Given the description of an element on the screen output the (x, y) to click on. 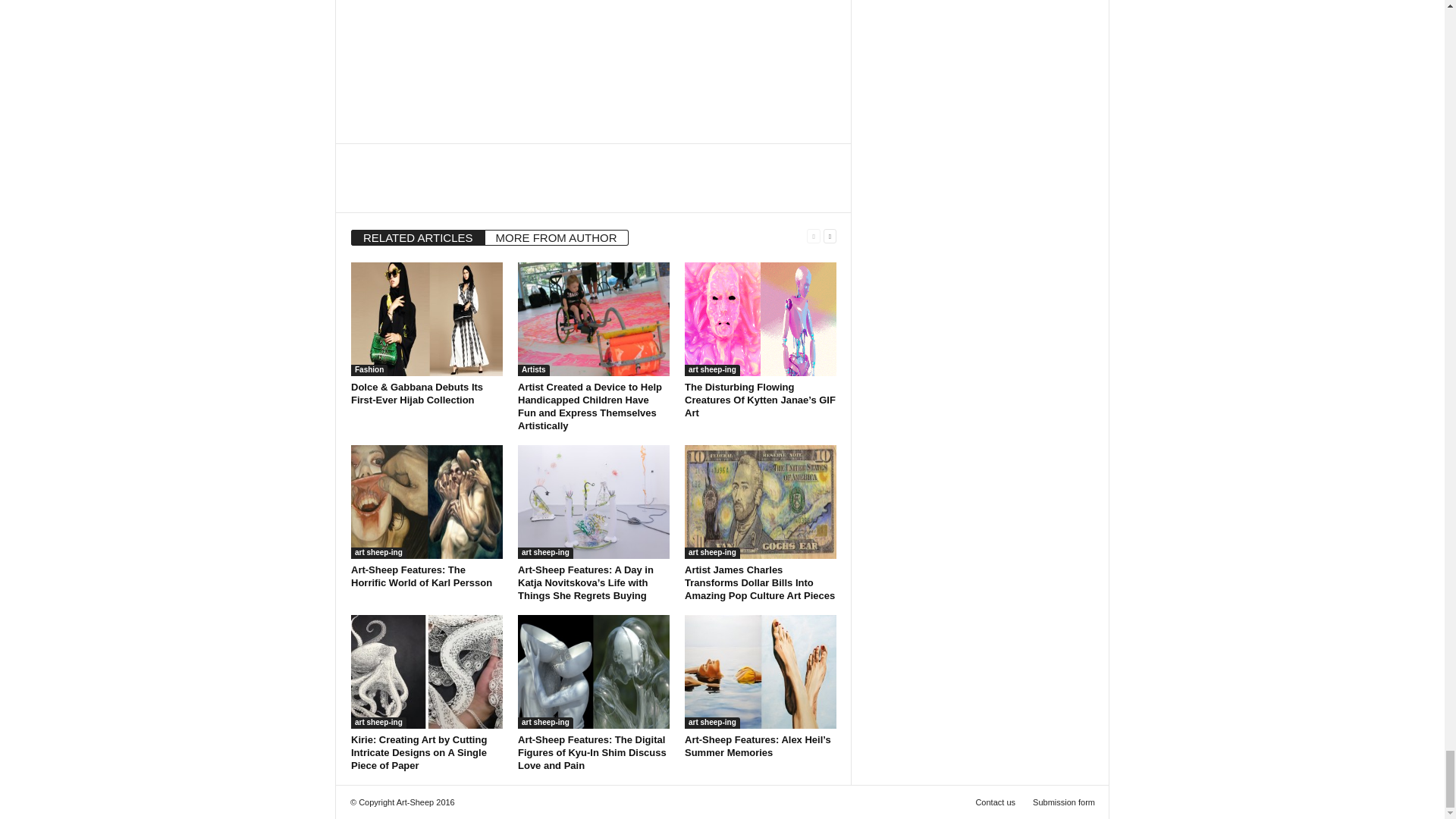
bottomFacebookLike (390, 159)
